Given the description of an element on the screen output the (x, y) to click on. 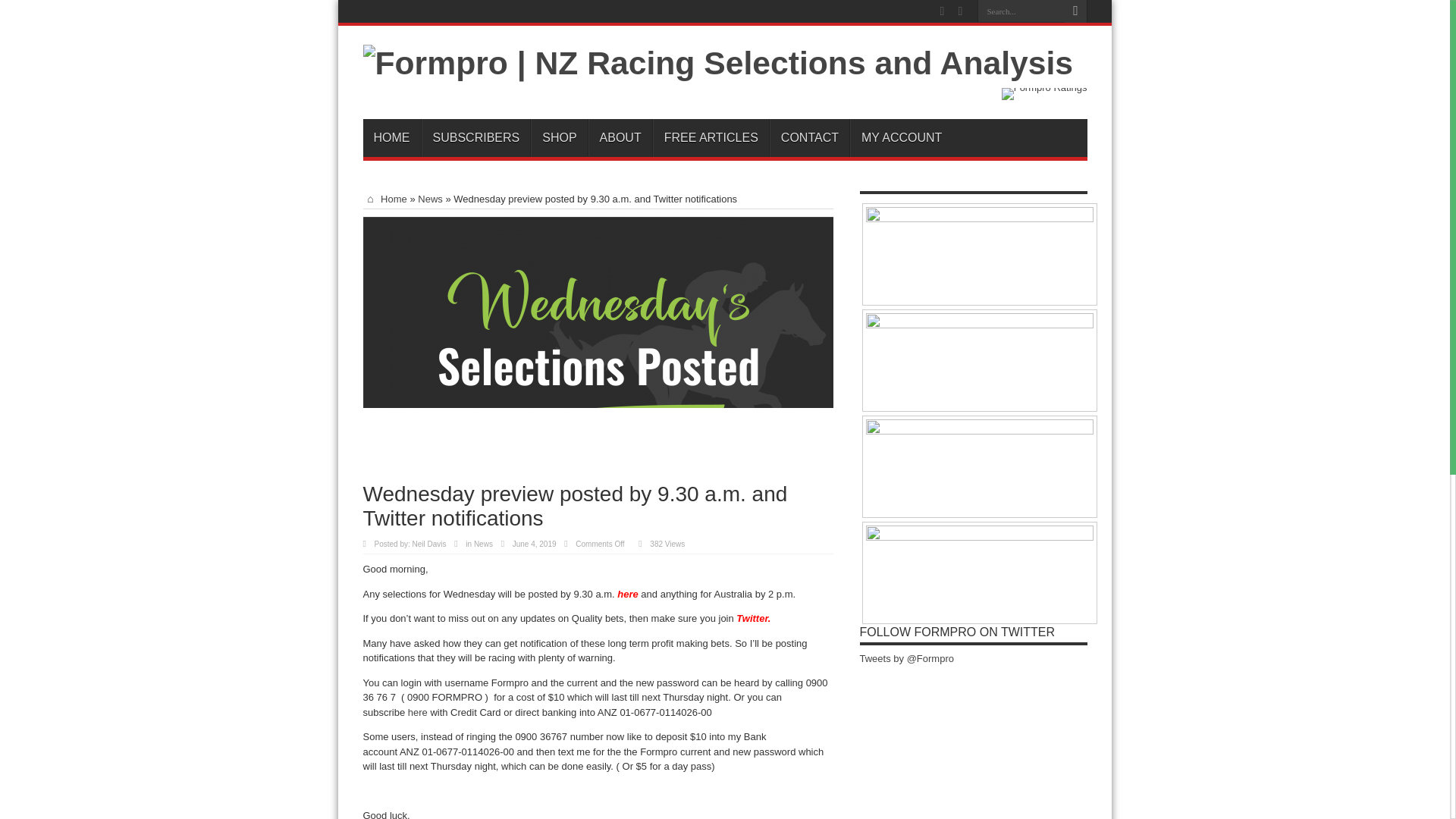
Search... (1020, 11)
Formpro Ratings (1044, 87)
Home (384, 198)
Search (1075, 11)
CONTACT (809, 137)
HOME (391, 137)
ABOUT (620, 137)
FREE ARTICLES (710, 137)
SHOP (558, 137)
here (417, 712)
